Given the description of an element on the screen output the (x, y) to click on. 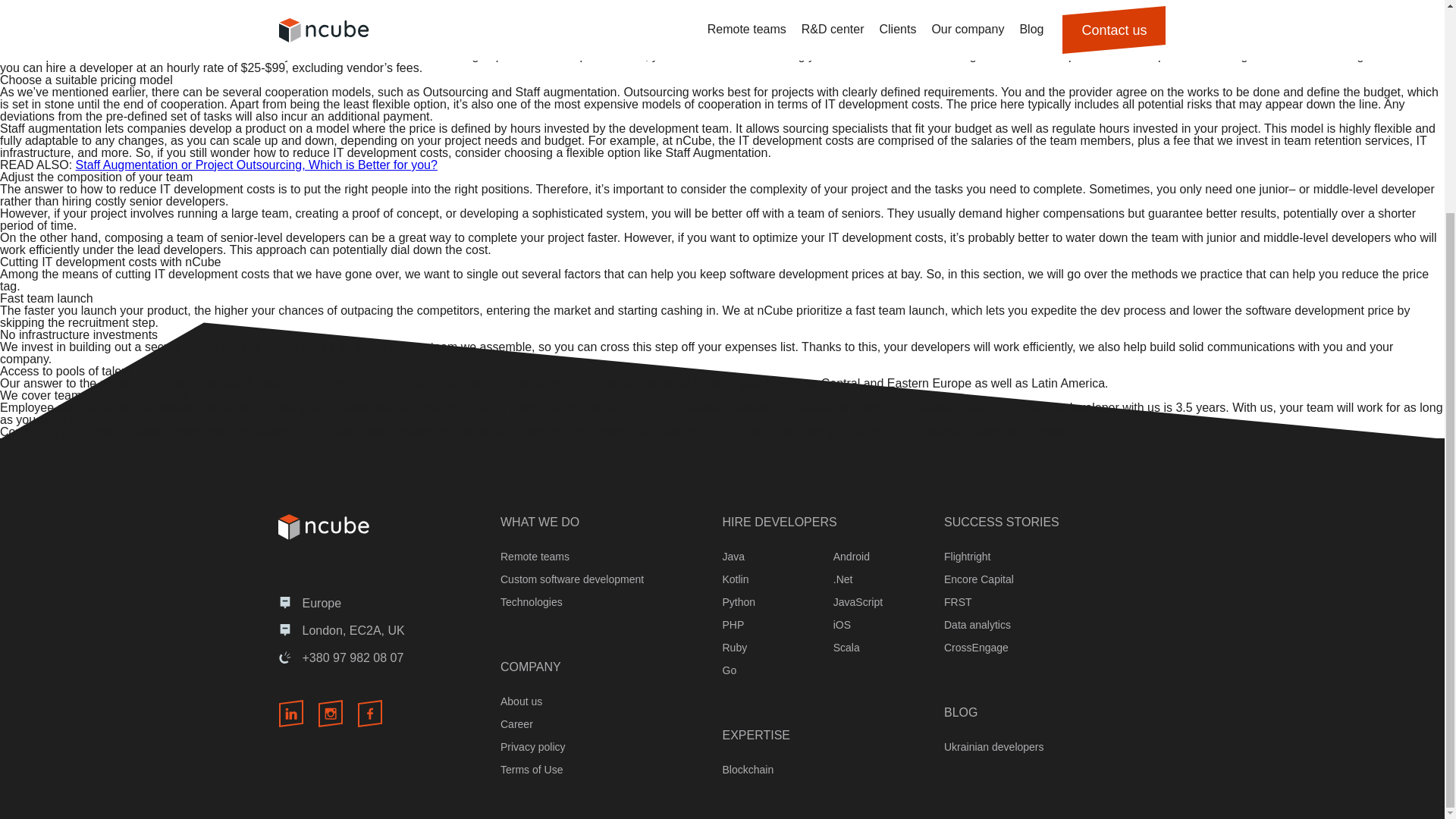
Java (733, 556)
Flightright (966, 556)
JavaScript (857, 602)
Ruby (734, 647)
About us (520, 701)
Terms of Use (531, 769)
Custom software development (571, 579)
Technologies (531, 602)
.Net (842, 579)
